Given the description of an element on the screen output the (x, y) to click on. 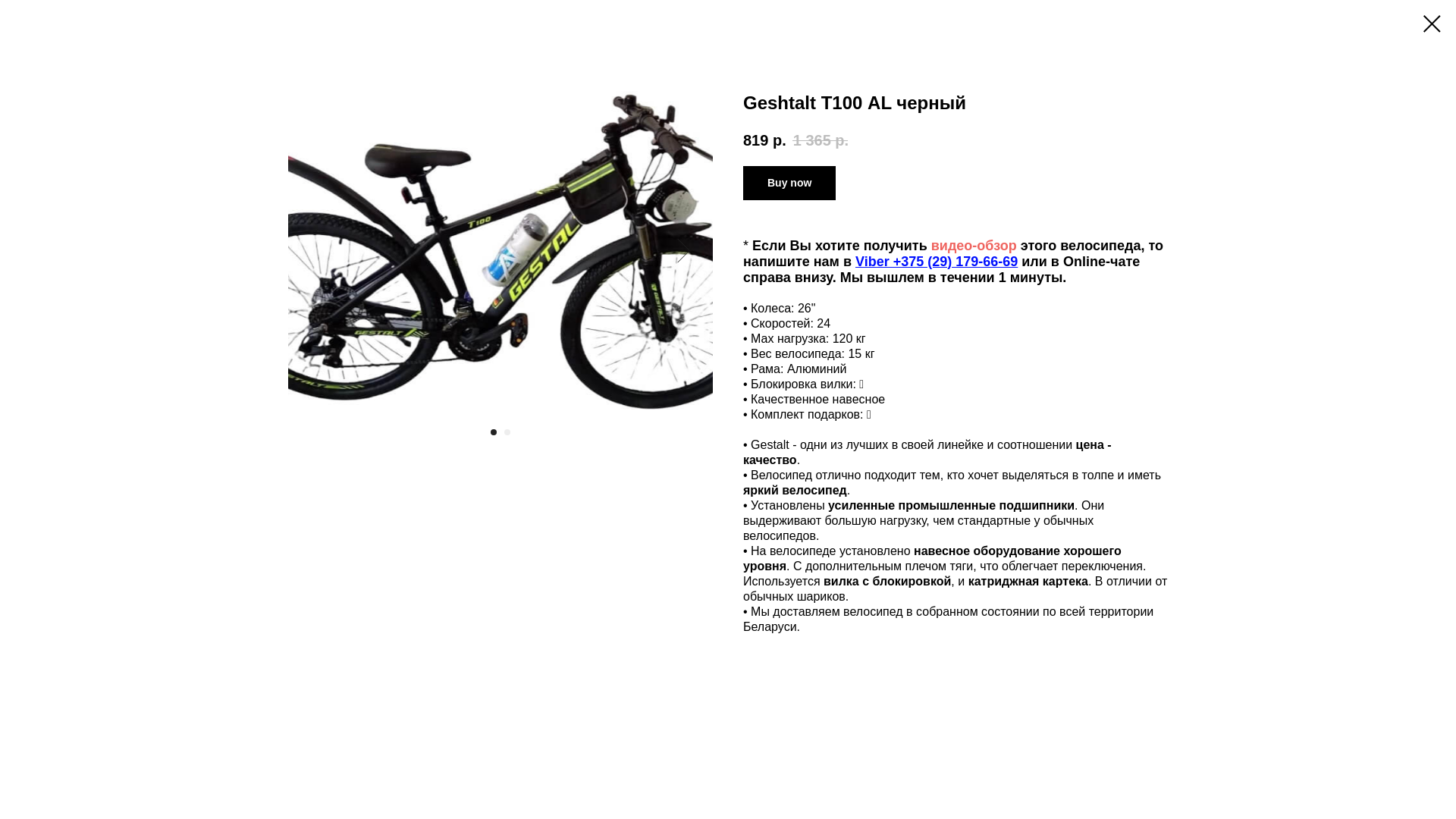
Viber +375 (29) 179-66-69 Element type: text (936, 261)
Buy now Element type: text (789, 183)
